Given the description of an element on the screen output the (x, y) to click on. 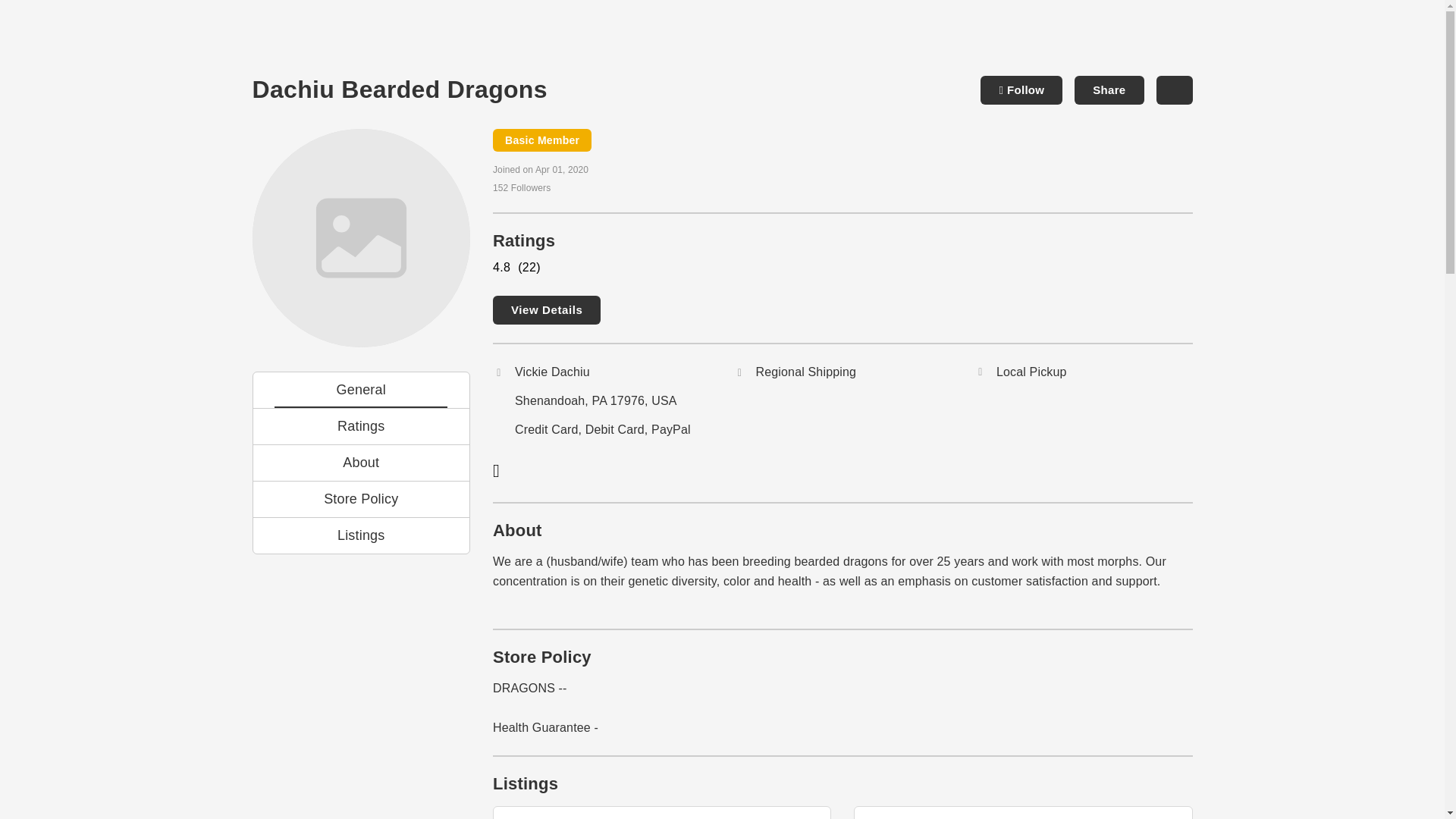
Basic Member (542, 139)
View Details (546, 309)
General (360, 389)
Ratings (360, 425)
Listings (360, 534)
Follow (1020, 90)
About (360, 461)
Follow this store (1020, 90)
Store Policy (360, 498)
Share (1108, 90)
